Given the description of an element on the screen output the (x, y) to click on. 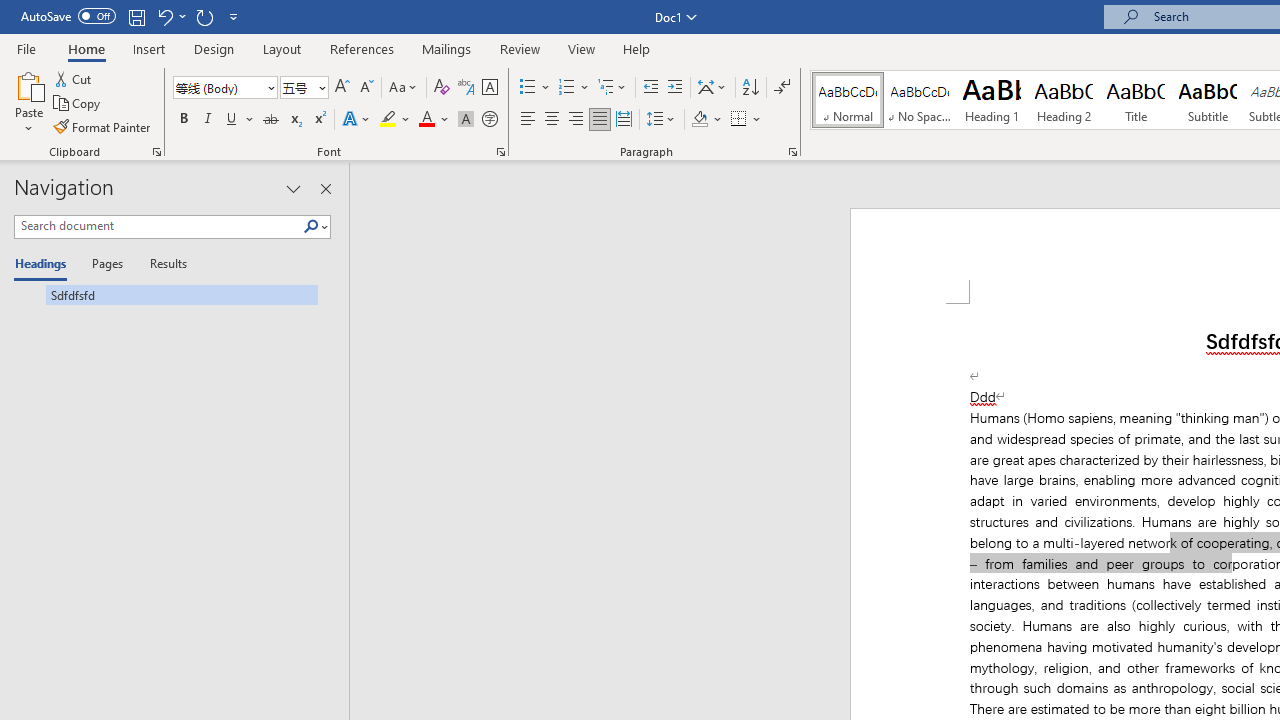
Text Effects and Typography (357, 119)
Undo  (164, 15)
Text Highlight Color (395, 119)
Paste (28, 84)
Align Left (527, 119)
Heading 2 (1063, 100)
Copy (78, 103)
Underline (232, 119)
Shading (706, 119)
Enclose Characters... (489, 119)
Headings (45, 264)
Font (218, 87)
Underline (239, 119)
Search document (157, 226)
Strikethrough (270, 119)
